Given the description of an element on the screen output the (x, y) to click on. 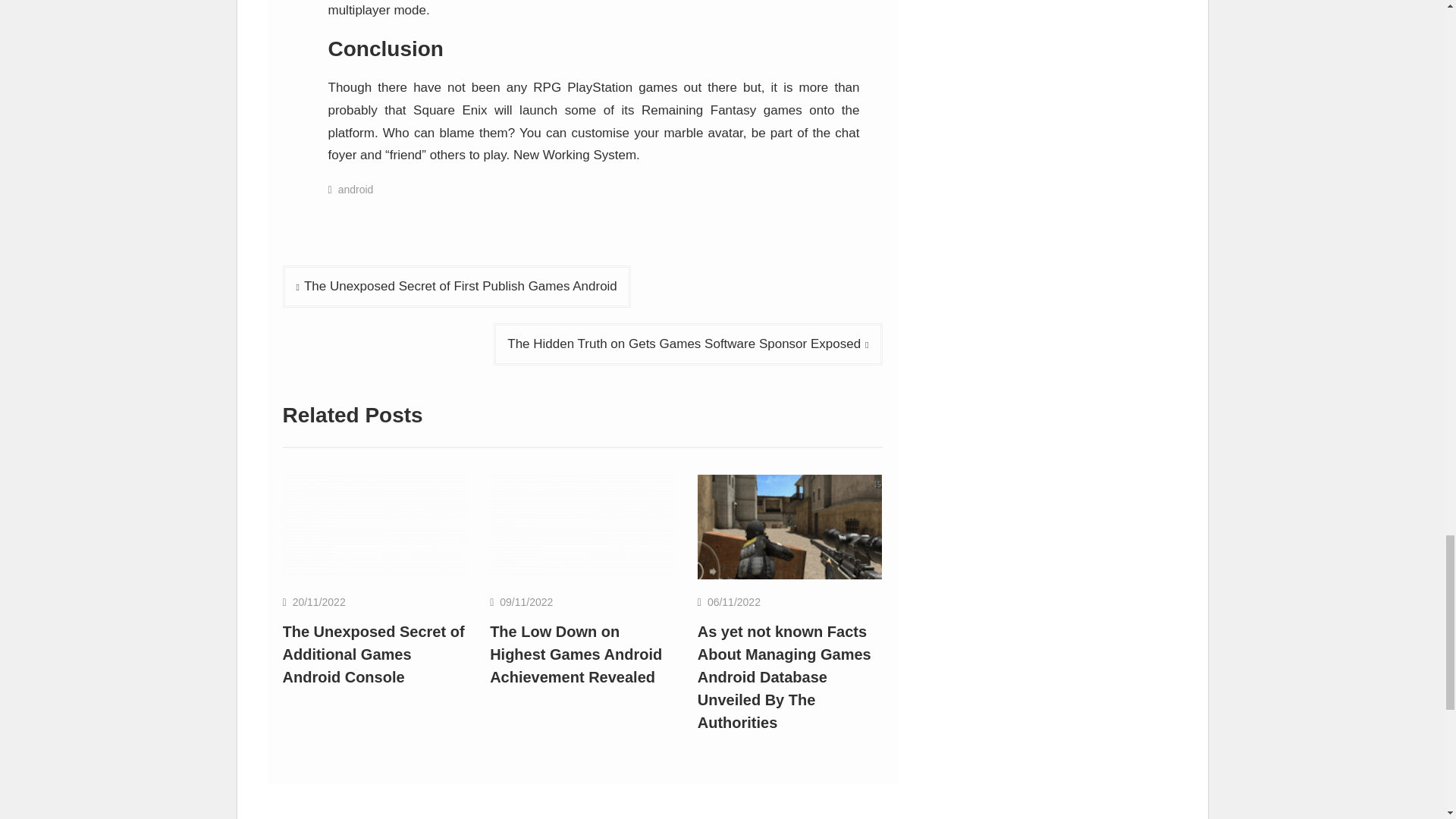
The Hidden Truth on Gets Games Software Sponsor Exposed (687, 343)
The Unexposed Secret of Additional Games Android Console (373, 654)
The Unexposed Secret of Additional Games Android Console (374, 526)
The Low Down on Highest Games Android Achievement Revealed (575, 654)
android (355, 189)
The Unexposed Secret of First Publish Games Android (456, 286)
The Low Down on Highest Games Android Achievement Revealed (582, 526)
